Given the description of an element on the screen output the (x, y) to click on. 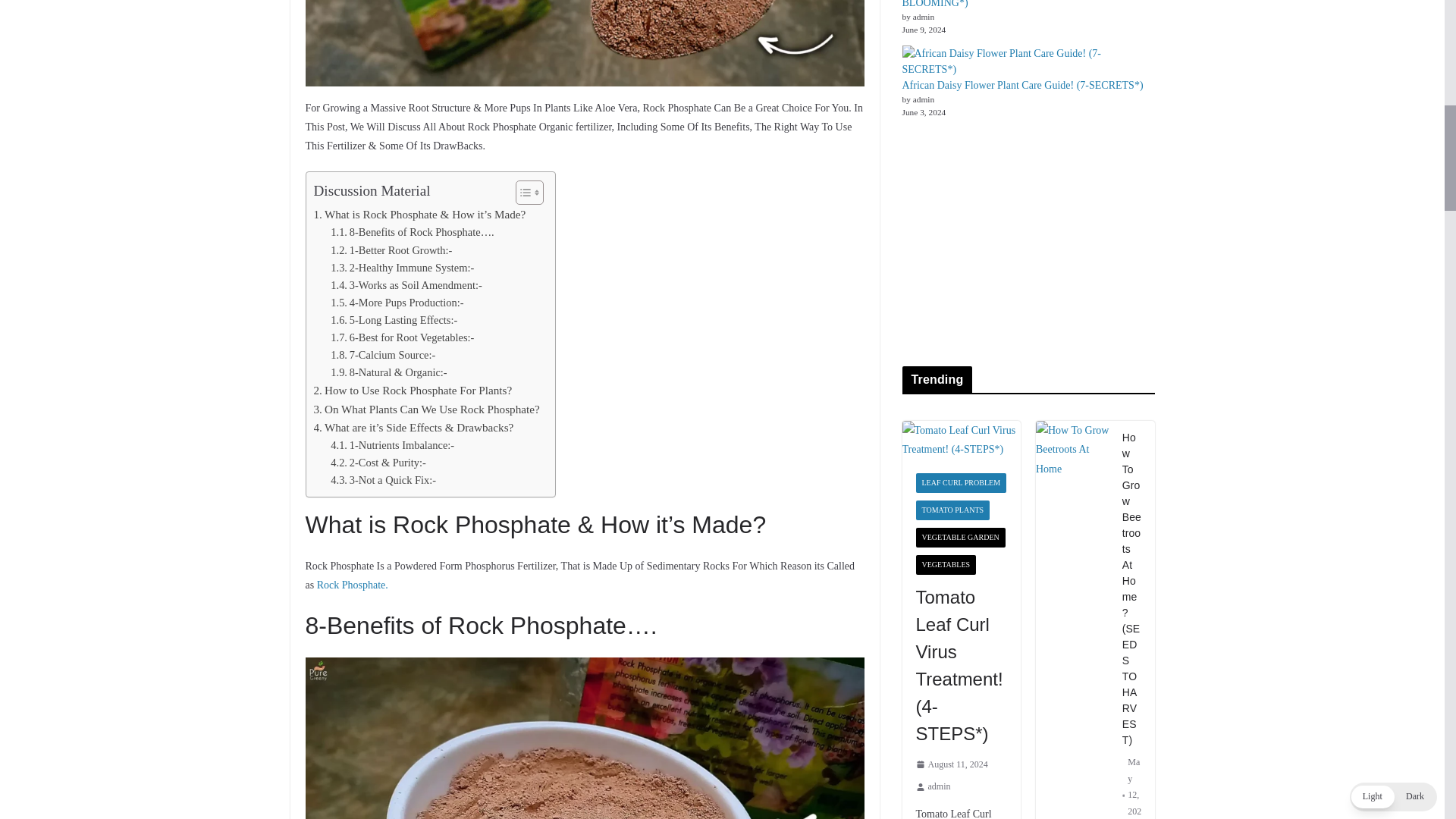
1-Nutrients Imbalance:- (392, 445)
1-Nutrients Imbalance:- (392, 445)
On What Plants Can We Use Rock Phosphate? (427, 409)
3-Not a Quick Fix:- (382, 479)
How to Use Rock Phosphate For Plants? (413, 390)
4-More Pups Production:- (396, 303)
1-Better Root Growth:- (390, 250)
7-Calcium Source:- (382, 354)
1-Better Root Growth:- (390, 250)
2-Healthy Immune System:- (402, 267)
